Given the description of an element on the screen output the (x, y) to click on. 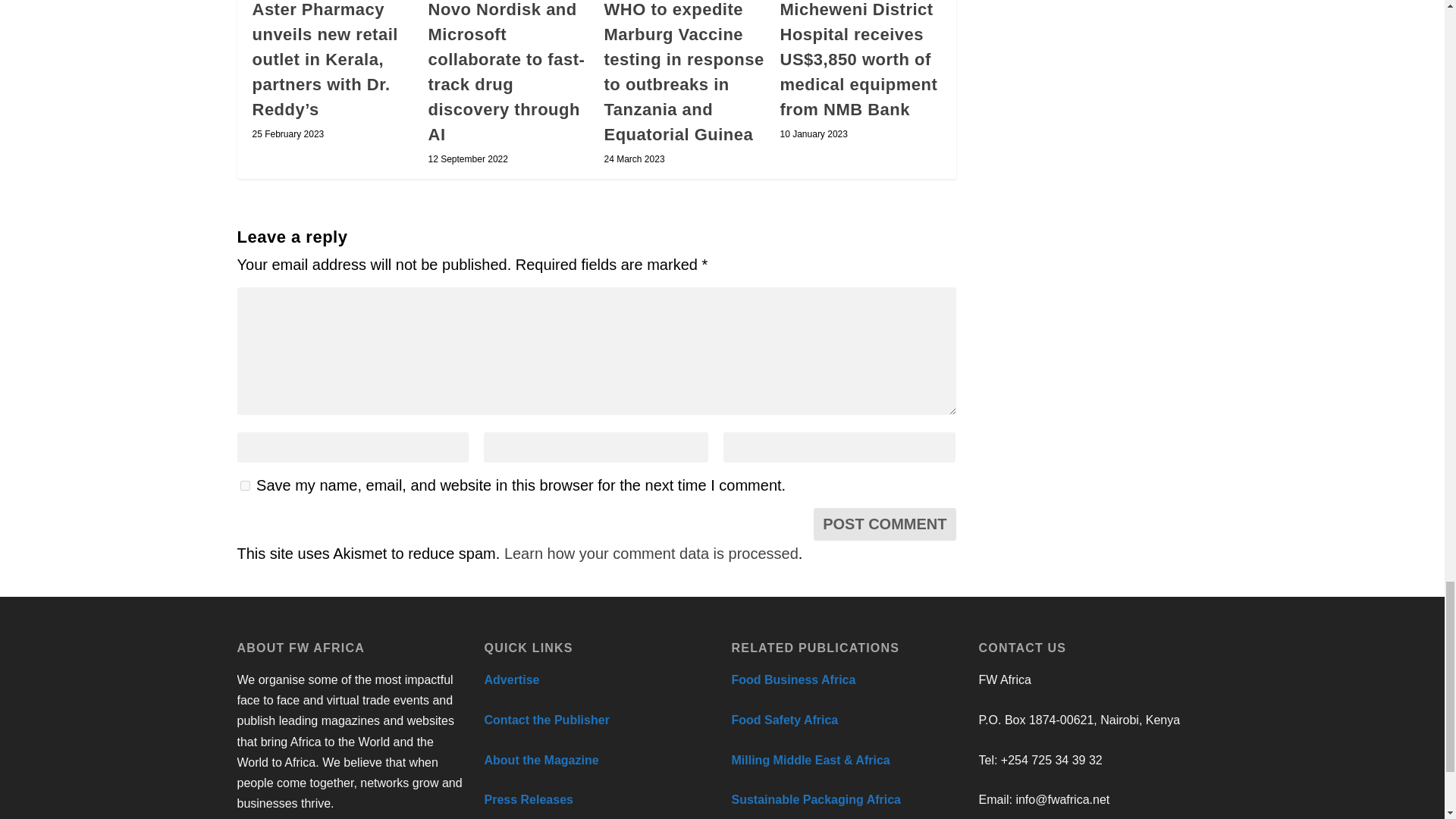
Post Comment (884, 523)
yes (244, 485)
